Given the description of an element on the screen output the (x, y) to click on. 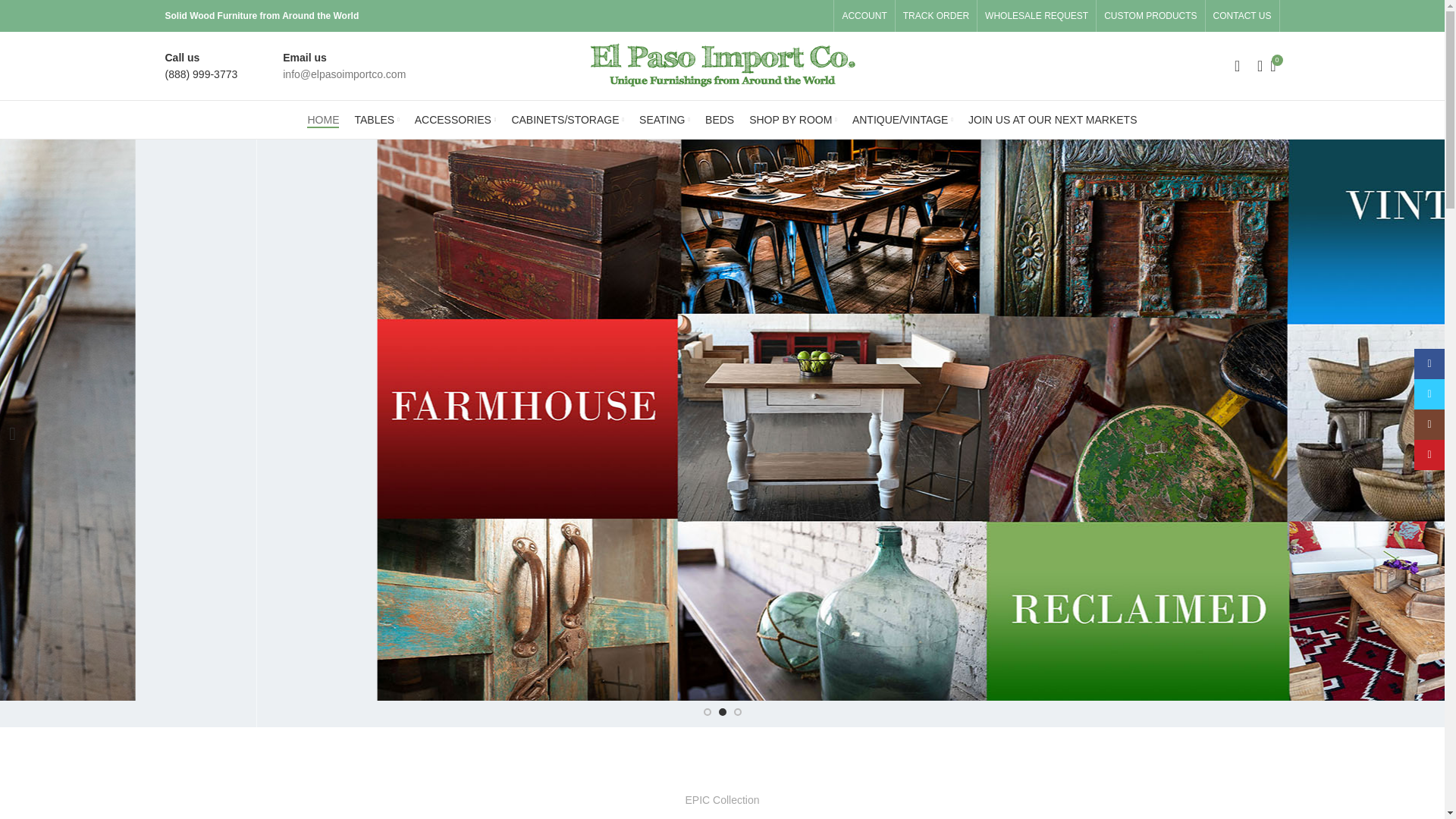
TABLES (375, 119)
ACCOUNT (863, 15)
ACCESSORIES (455, 119)
WHOLESALE REQUEST (1036, 15)
HOME (323, 119)
Shopping cart (1272, 65)
CONTACT US (1241, 15)
My account (1237, 65)
TRACK ORDER (935, 15)
CUSTOM PRODUCTS (1149, 15)
0 (1272, 65)
Search (1254, 65)
